Given the description of an element on the screen output the (x, y) to click on. 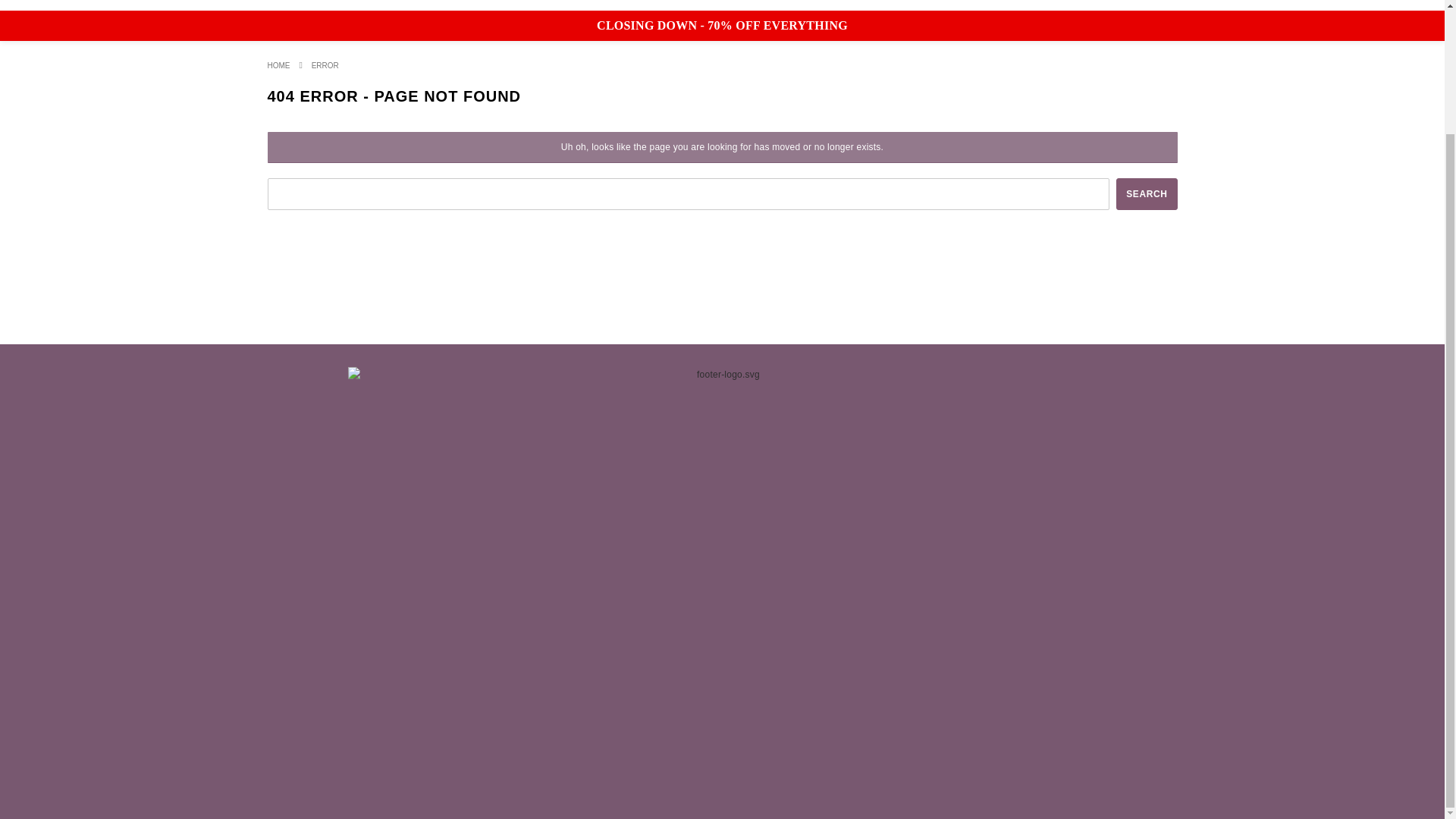
HORSE (628, 5)
BRANDS (543, 5)
Search (1146, 193)
